Given the description of an element on the screen output the (x, y) to click on. 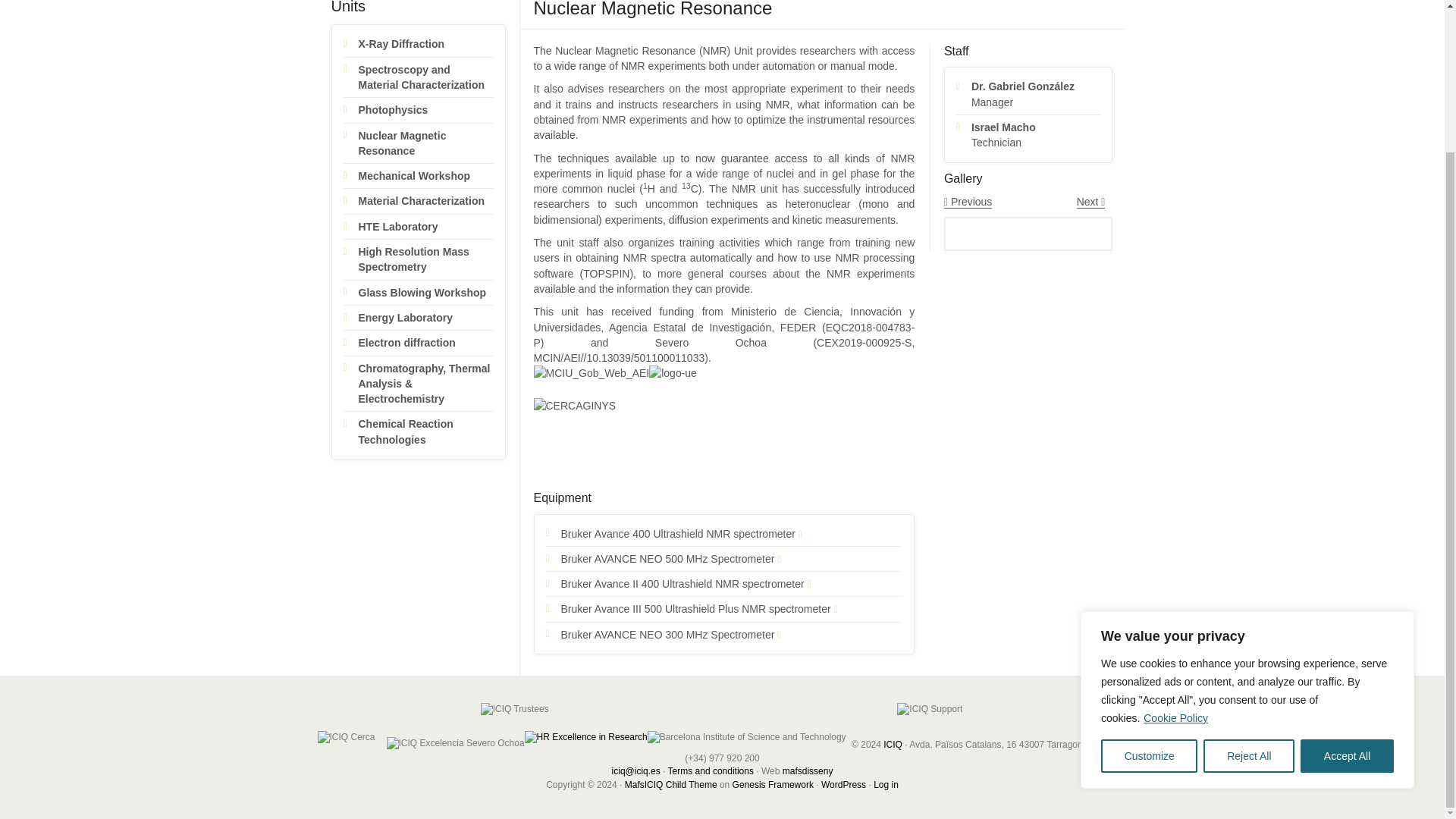
Customize (1148, 579)
mafs disseny grafic i web tarragona (807, 770)
Reject All (1193, 233)
terms and conditions (1249, 579)
Accept All (711, 770)
Unit staff (1346, 579)
Cookie Policy (1028, 225)
